Given the description of an element on the screen output the (x, y) to click on. 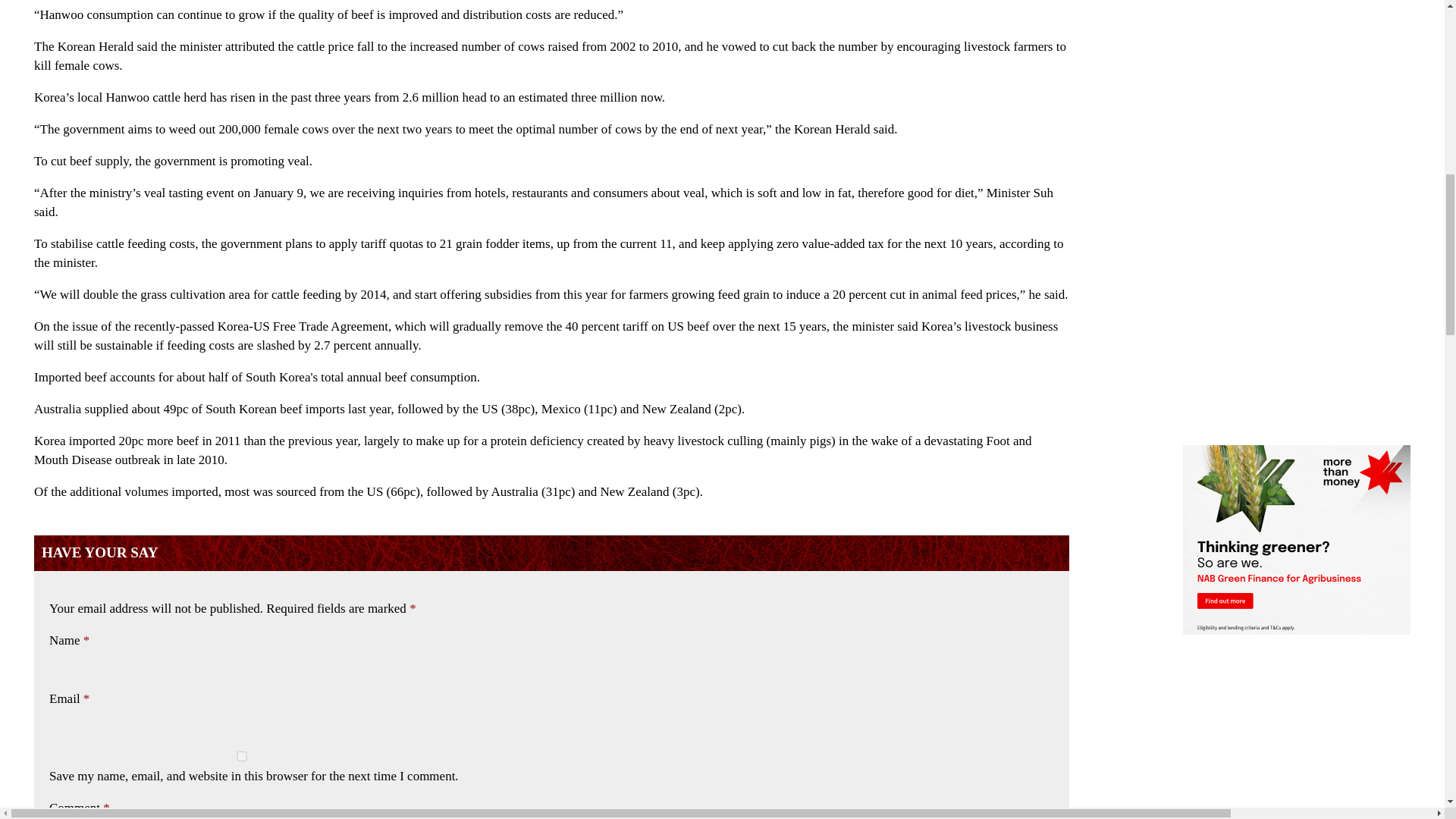
3rd party ad content (1296, 539)
3rd party ad content (1296, 21)
3rd party ad content (1296, 187)
3rd party ad content (1296, 734)
yes (241, 756)
3rd party ad content (1296, 96)
3rd party ad content (1296, 334)
